Given the description of an element on the screen output the (x, y) to click on. 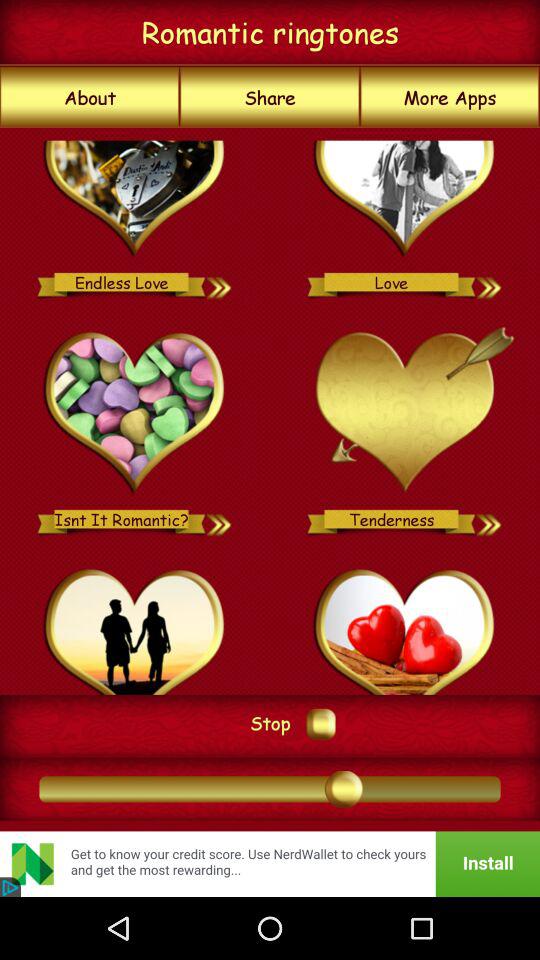
choose button next to share icon (90, 97)
